Given the description of an element on the screen output the (x, y) to click on. 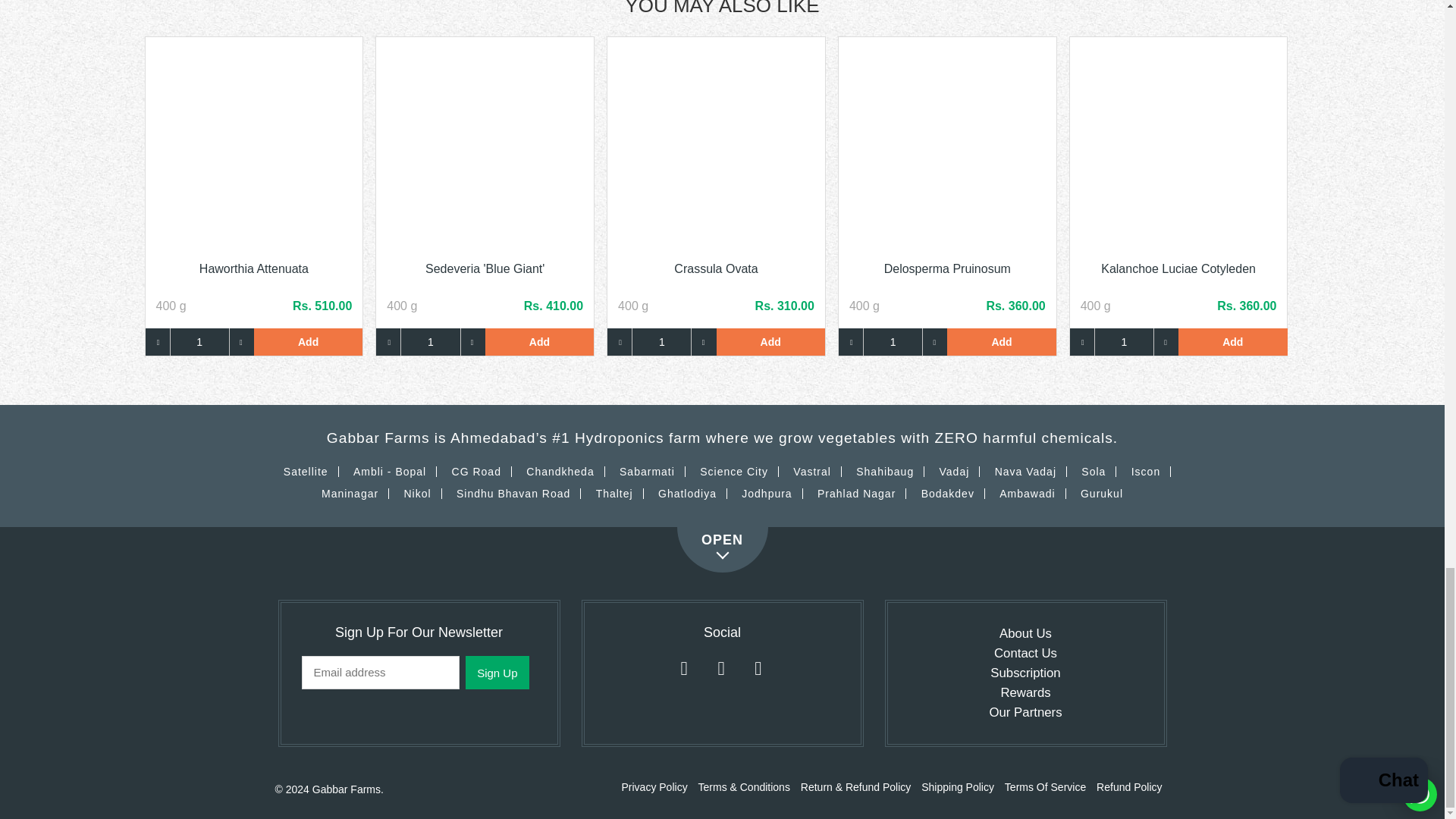
Add (1232, 341)
Add (1001, 341)
Add (770, 341)
1 (200, 341)
Add (539, 341)
1 (893, 341)
Gabbar Farms on Twitter (683, 668)
Gabbar Farms on Facebook (721, 668)
Sign Up (496, 672)
1 (430, 341)
